Given the description of an element on the screen output the (x, y) to click on. 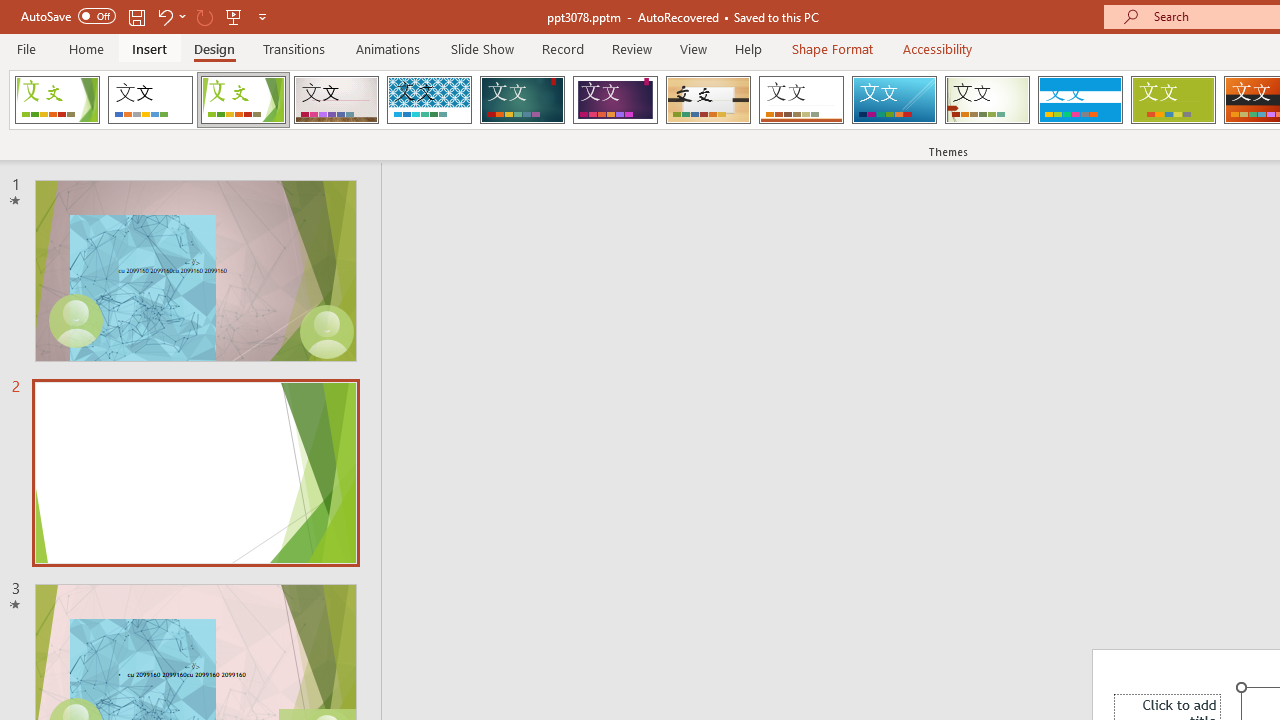
Gallery (336, 100)
Facet (243, 100)
Retrospect (801, 100)
Dividend (57, 100)
